Given the description of an element on the screen output the (x, y) to click on. 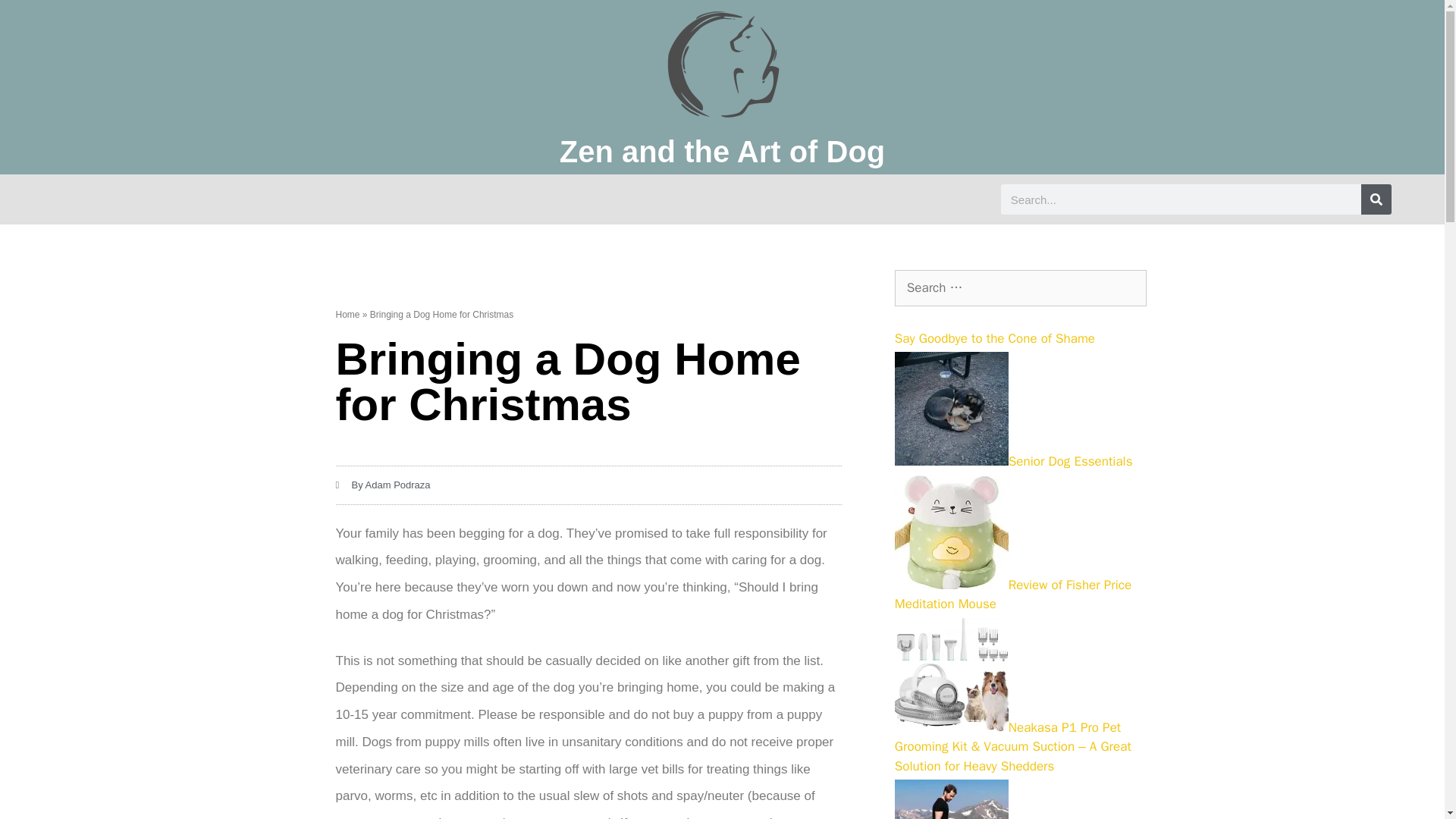
By Adam Podraza (381, 485)
Search for: (1021, 288)
Senior Dog Essentials (1013, 461)
Say Goodbye to the Cone of Shame (994, 338)
Zen and the Art of Dog (722, 151)
Review of Fisher Price Meditation Mouse (1013, 593)
Home (346, 314)
Search (35, 18)
